Given the description of an element on the screen output the (x, y) to click on. 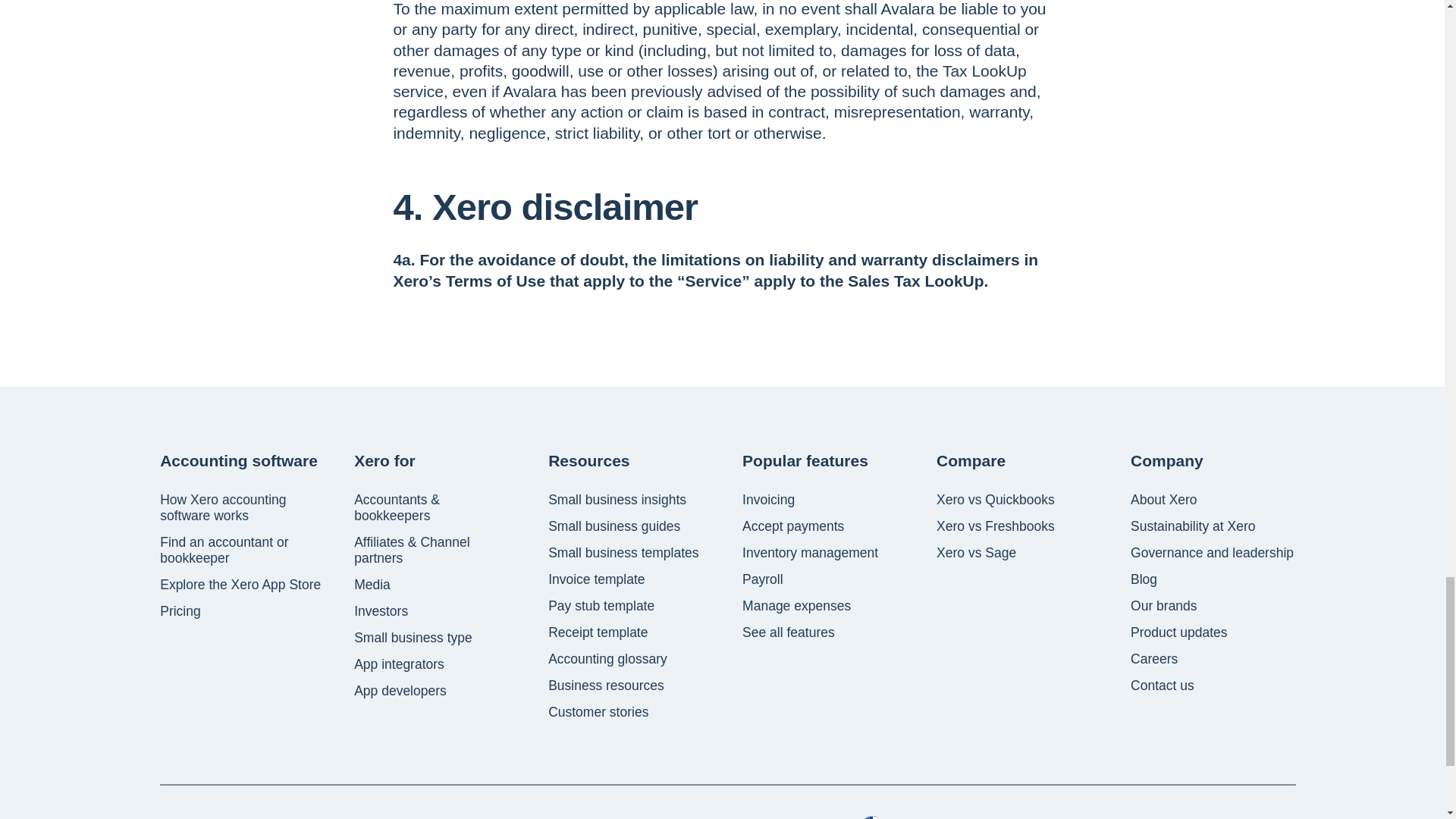
Small business templates (623, 553)
How Xero accounting software works (242, 508)
App developers (399, 691)
Small business type (412, 637)
Find an accountant or bookkeeper (242, 550)
App integrators (398, 664)
Business resources (605, 685)
Media (371, 584)
Customer stories (597, 712)
Investors (380, 611)
